Given the description of an element on the screen output the (x, y) to click on. 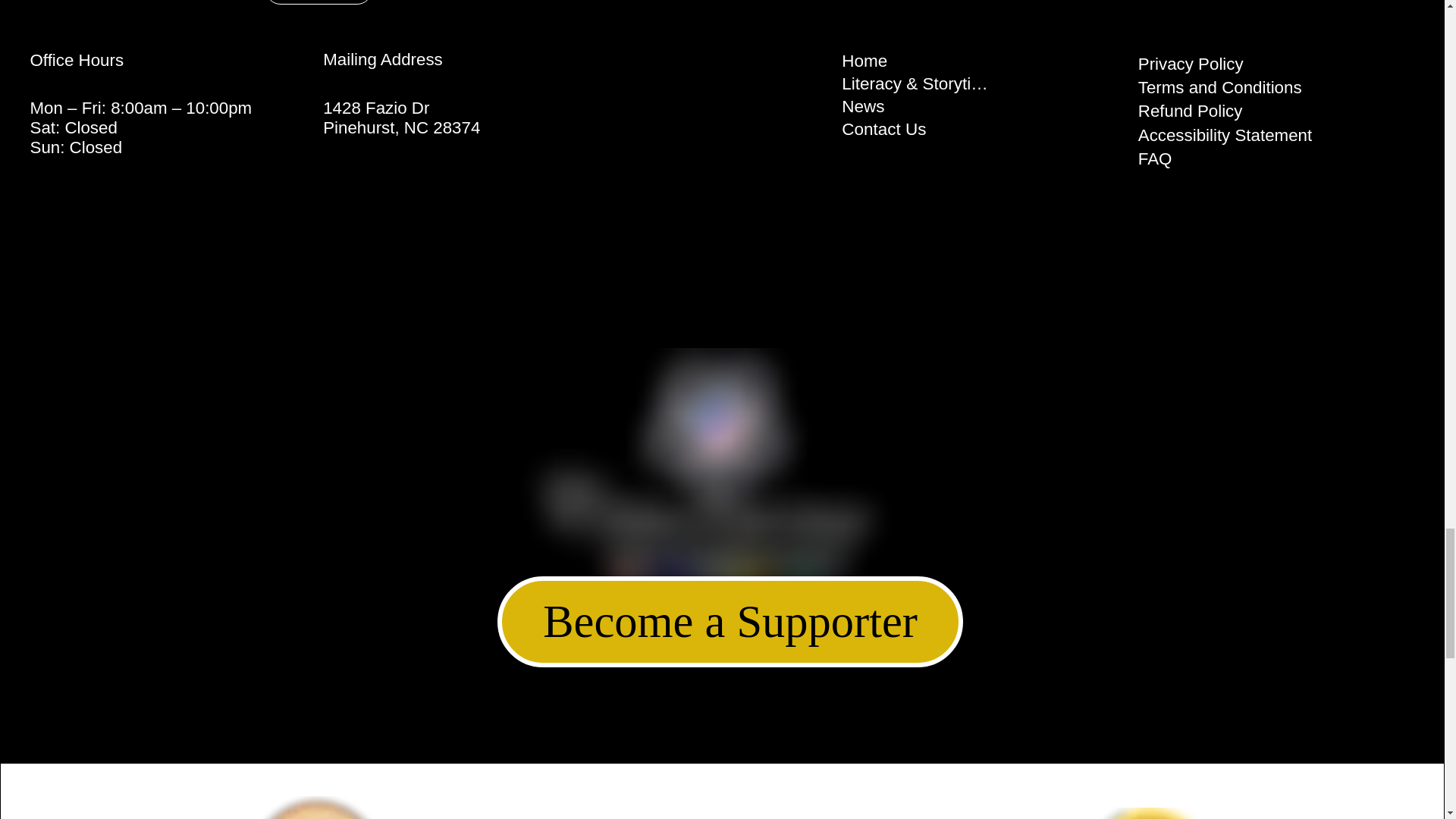
Submit (317, 2)
Terms and Conditions (1219, 87)
Home (917, 60)
FAQ (1155, 158)
News (917, 106)
Refund Policy (1190, 110)
Privacy Policy (1190, 63)
Accessibility Statement (1224, 135)
